Given the description of an element on the screen output the (x, y) to click on. 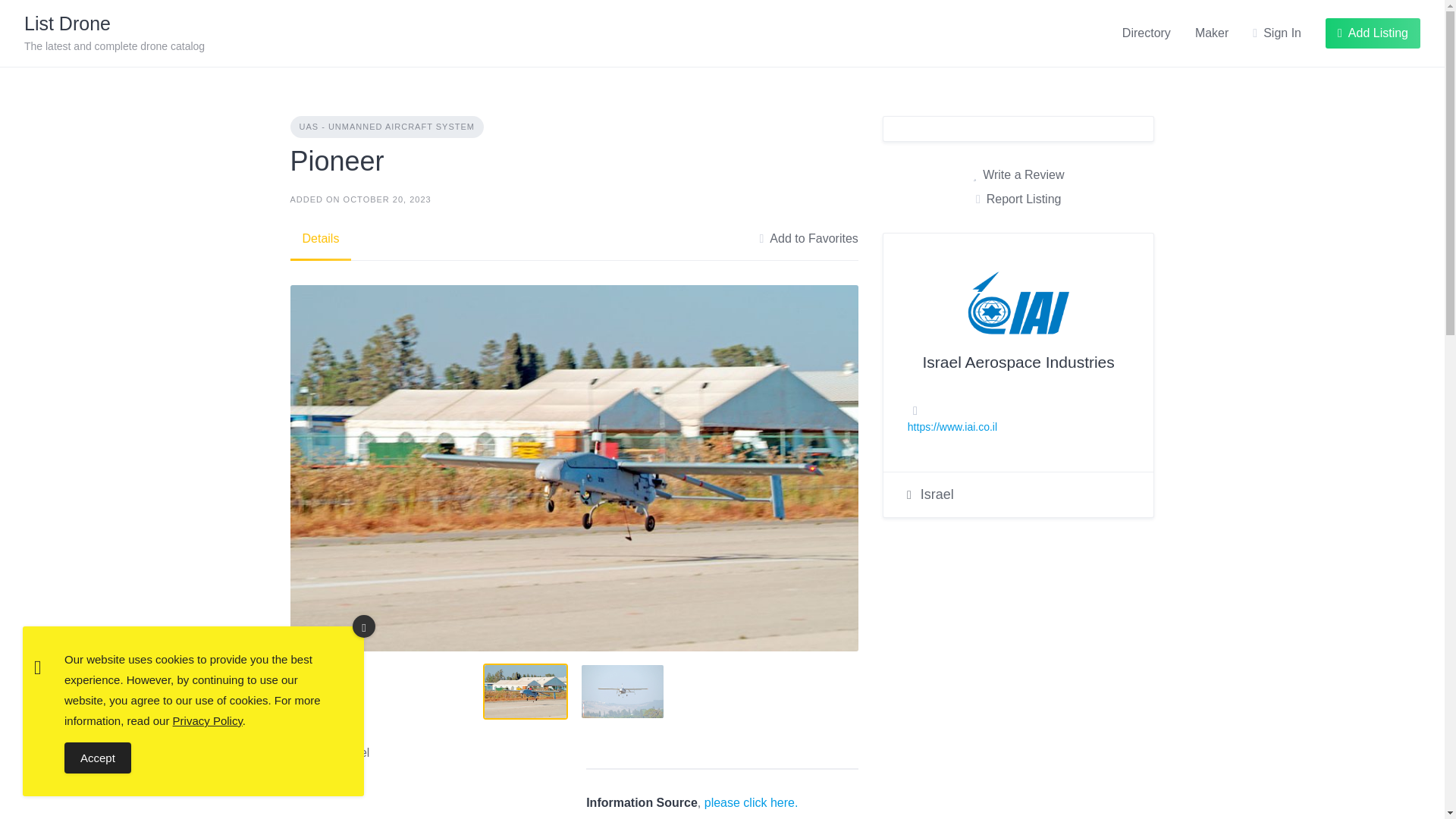
Sign In (1276, 33)
Add Listing (1372, 33)
Add to Favorites (807, 239)
UAS - UNMANNED AIRCRAFT SYSTEM (386, 127)
Maker (1211, 33)
Israel Aerospace Industries (1017, 361)
please click here. (750, 802)
Write a Review (114, 33)
Details (1018, 175)
